Given the description of an element on the screen output the (x, y) to click on. 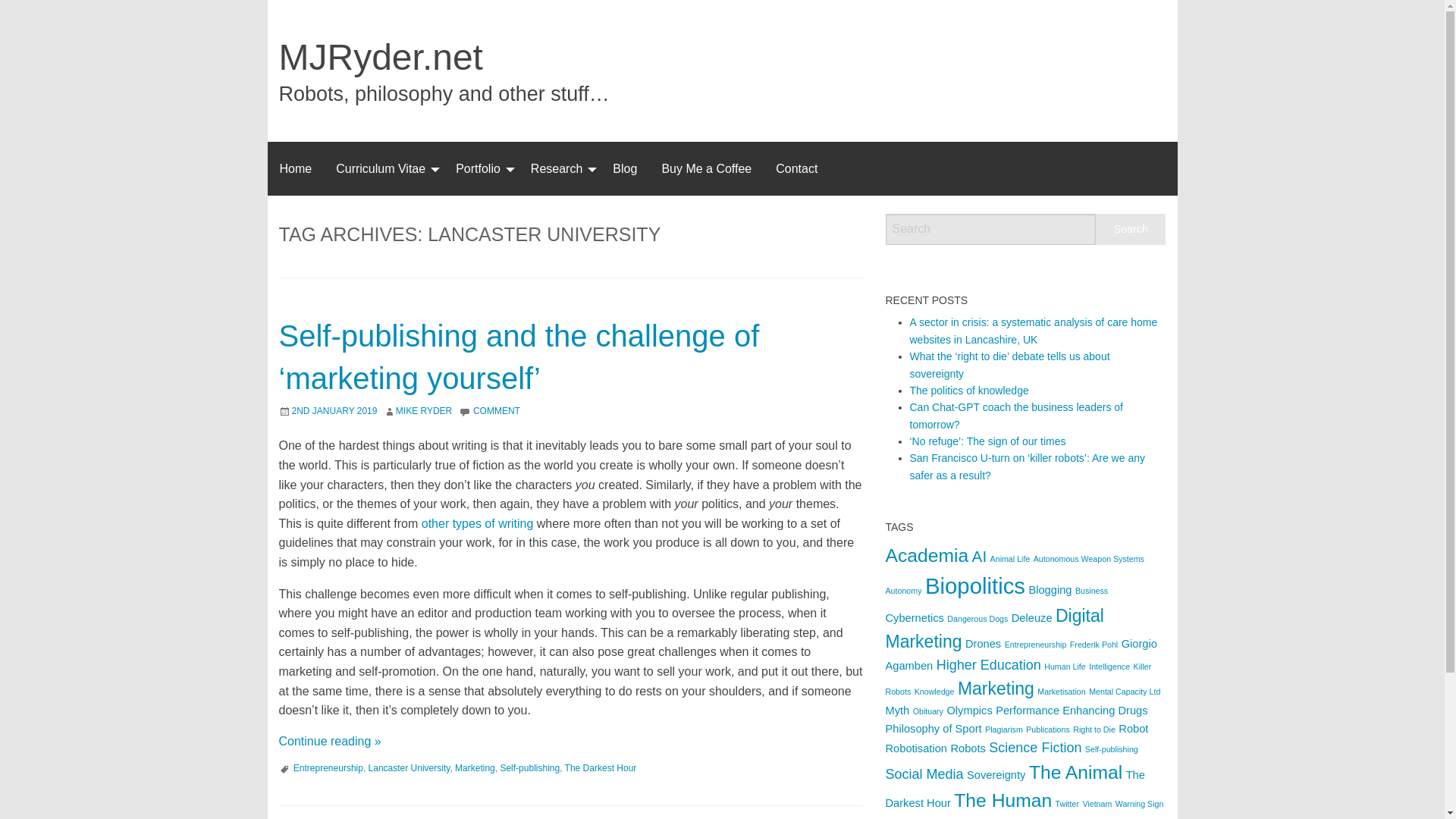
Home (294, 167)
MJRyder.net (381, 56)
Contact (795, 167)
Curriculum Vitae (383, 167)
Blog (624, 167)
Search (1131, 228)
Buy Me a Coffee (705, 167)
COMMENT (496, 410)
Portfolio (481, 167)
Research (558, 167)
